Given the description of an element on the screen output the (x, y) to click on. 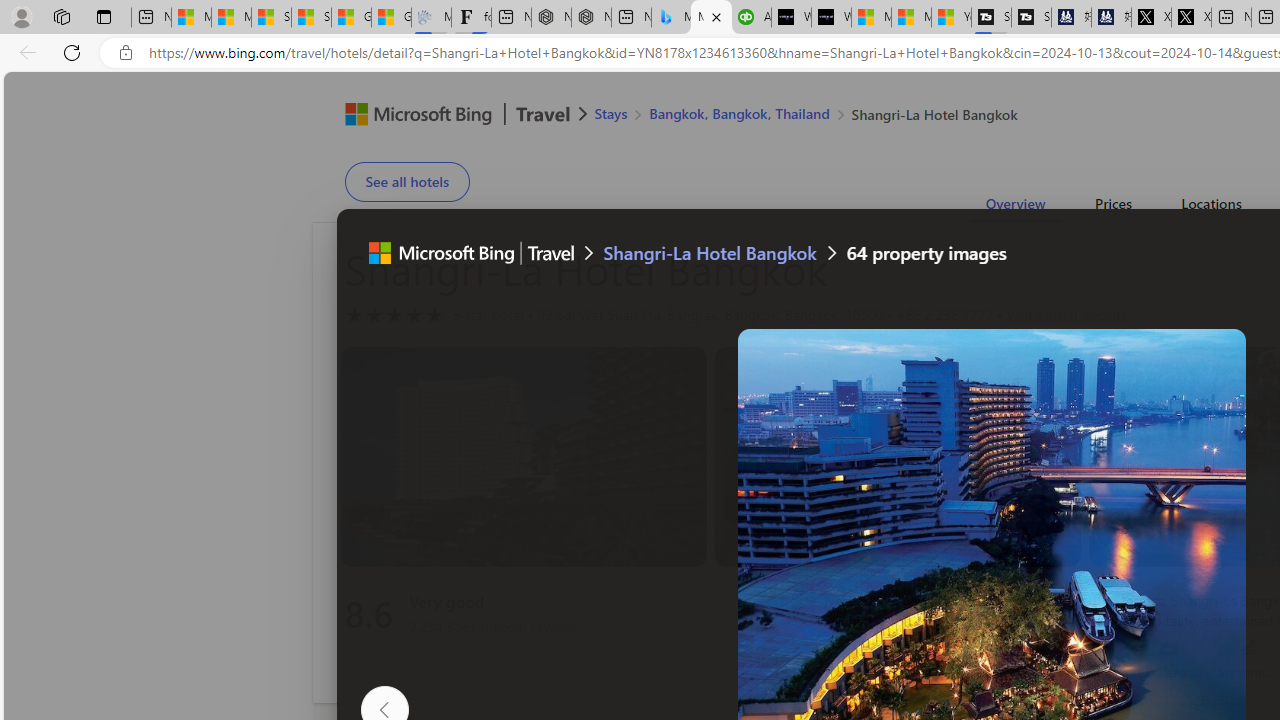
Streaming Coverage | T3 (991, 17)
Microsoft Bing Travel - Stays in Bangkok, Bangkok, Thailand (671, 17)
Gilma and Hector both pose tropical trouble for Hawaii (391, 17)
Accounting Software for Accountants, CPAs and Bookkeepers (751, 17)
